Given the description of an element on the screen output the (x, y) to click on. 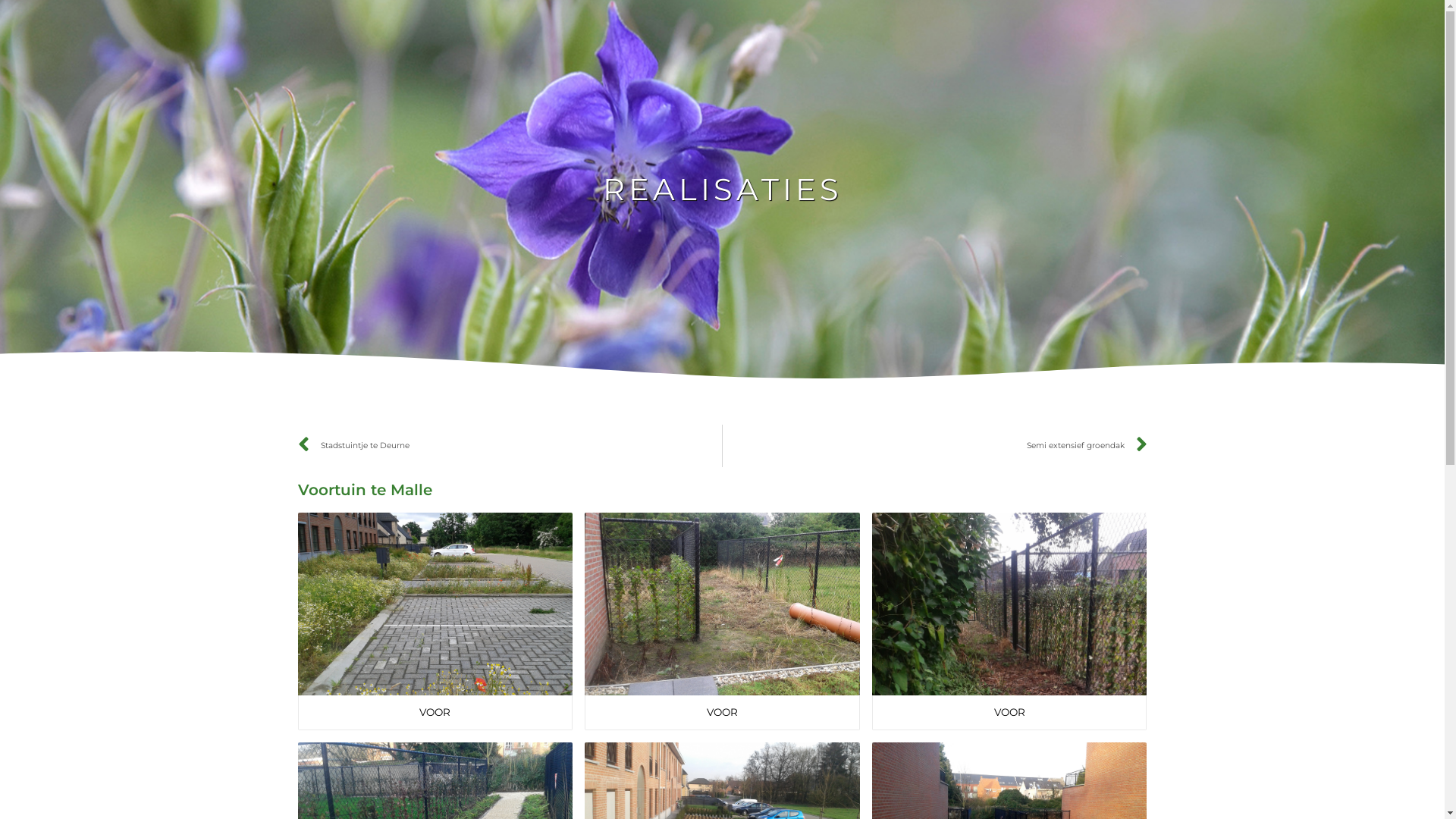
Aquilegia tuinen Element type: text (607, 22)
Contact Element type: text (1330, 22)
Semi extensief groendak Element type: text (934, 445)
Groendaken Element type: text (869, 22)
Realisaties Element type: text (1108, 22)
Stadstuintje te Deurne Element type: text (509, 445)
info@aquilegia.be Element type: text (204, 22)
0477 30 88 65 Element type: text (72, 22)
